Given the description of an element on the screen output the (x, y) to click on. 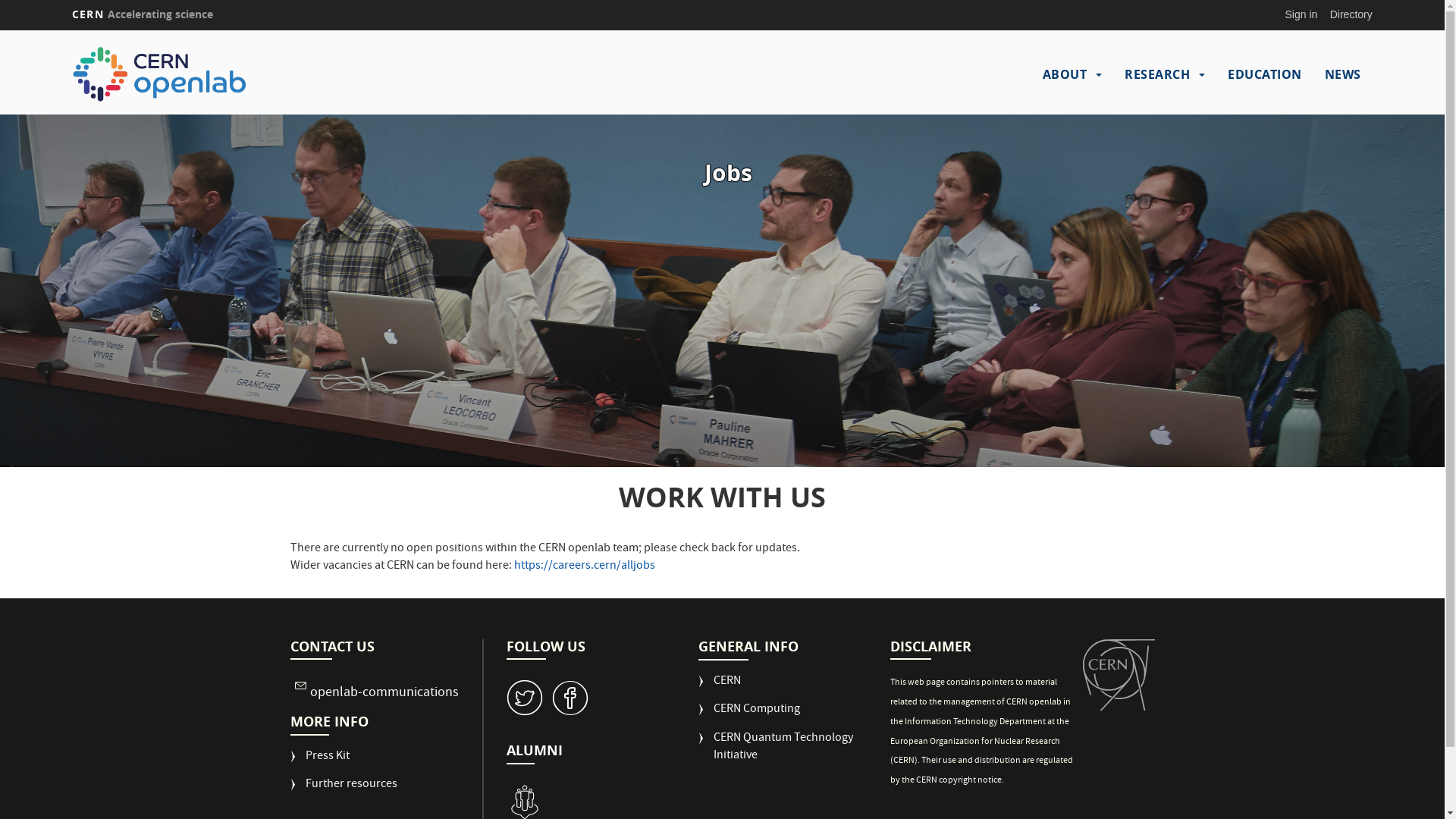
v Element type: text (570, 697)
Sign in Element type: text (1301, 14)
CERN Element type: text (719, 687)
ALUMNI Element type: text (534, 749)
CERN copyright notice Element type: text (958, 780)
Directory Element type: text (1351, 14)
CERN Quantum Technology Initiative Element type: text (794, 753)
CERN Accelerating science Element type: text (142, 14)
Press Kit Element type: text (318, 762)
CERN Element type: hover (1118, 674)
EDUCATION Element type: text (1264, 74)
CERN Computing Element type: text (749, 715)
Further resources Element type: text (342, 790)
Skip to main content Element type: text (0, 30)
W Element type: text (524, 697)
NEWS Element type: text (1342, 74)
RESEARCH Element type: text (1156, 74)
https://careers.cern/alljobs Element type: text (584, 566)
openlab-communications Element type: text (383, 693)
Home Element type: hover (230, 74)
